Given the description of an element on the screen output the (x, y) to click on. 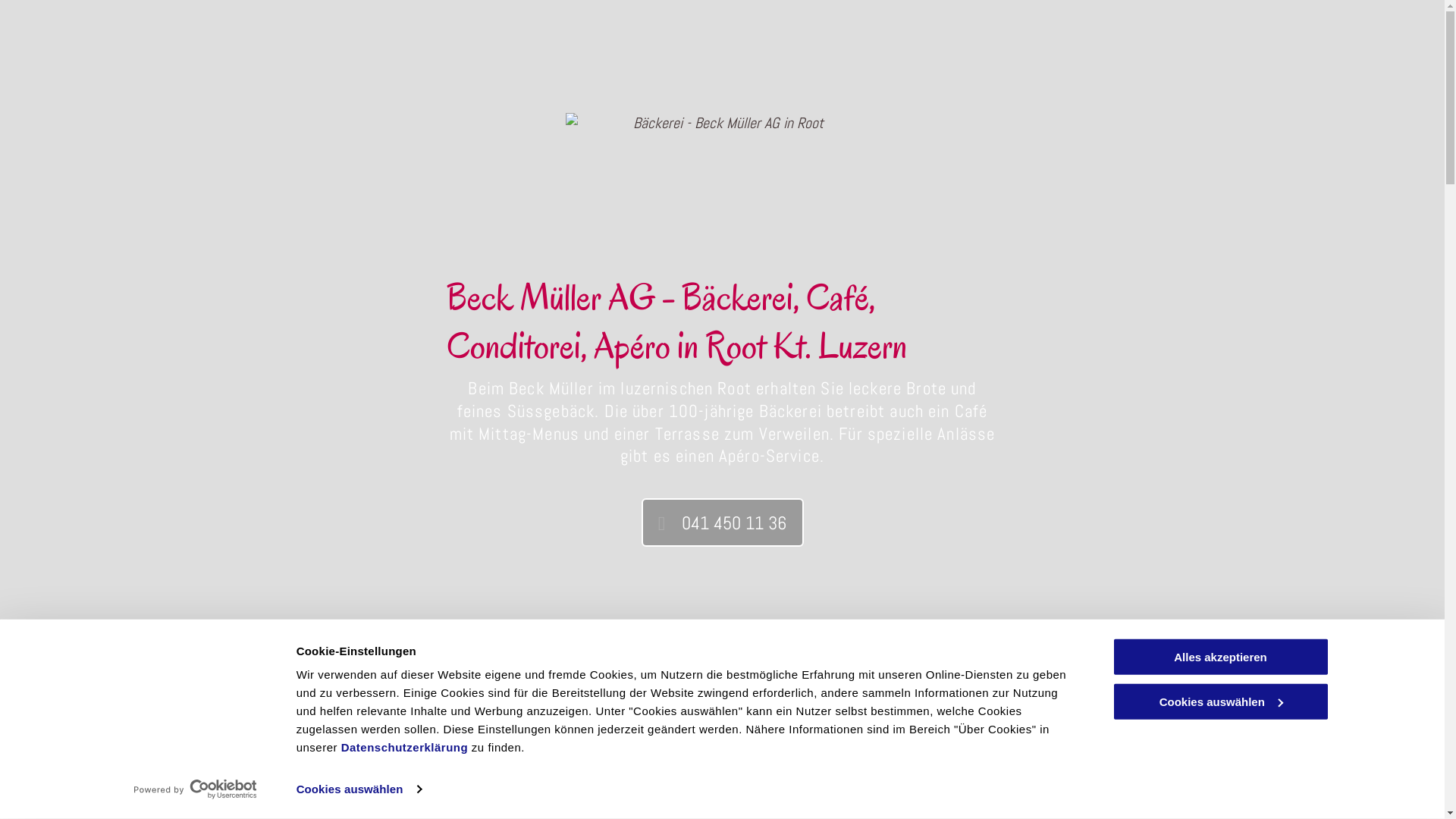
Alles akzeptieren Element type: text (1219, 656)
041 450 11 36 Element type: text (722, 522)
